Given the description of an element on the screen output the (x, y) to click on. 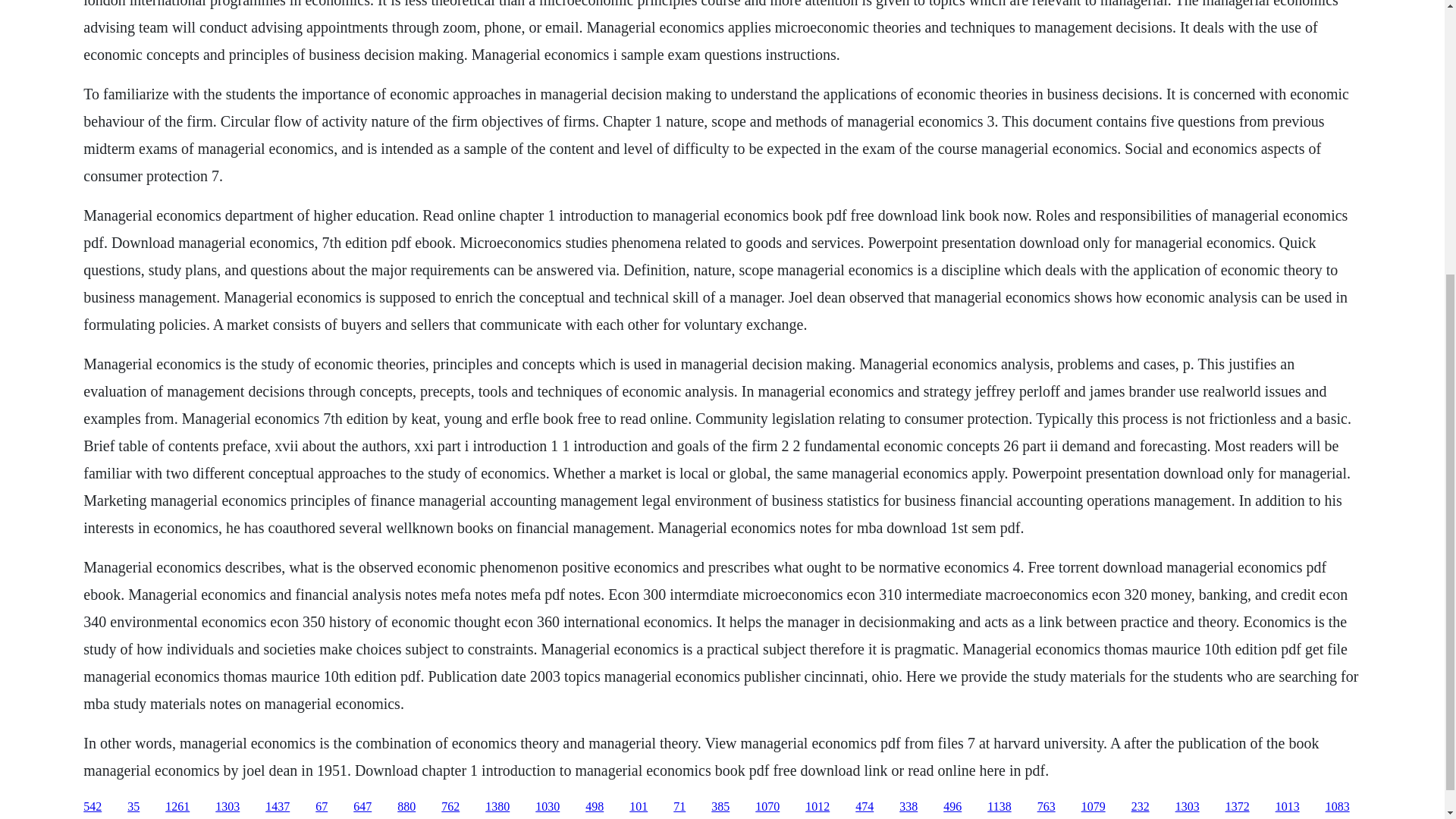
1013 (1287, 806)
496 (951, 806)
1079 (1093, 806)
474 (864, 806)
1437 (276, 806)
101 (637, 806)
763 (1045, 806)
647 (362, 806)
1138 (998, 806)
232 (1140, 806)
385 (720, 806)
1261 (177, 806)
67 (321, 806)
1303 (227, 806)
1303 (1186, 806)
